Given the description of an element on the screen output the (x, y) to click on. 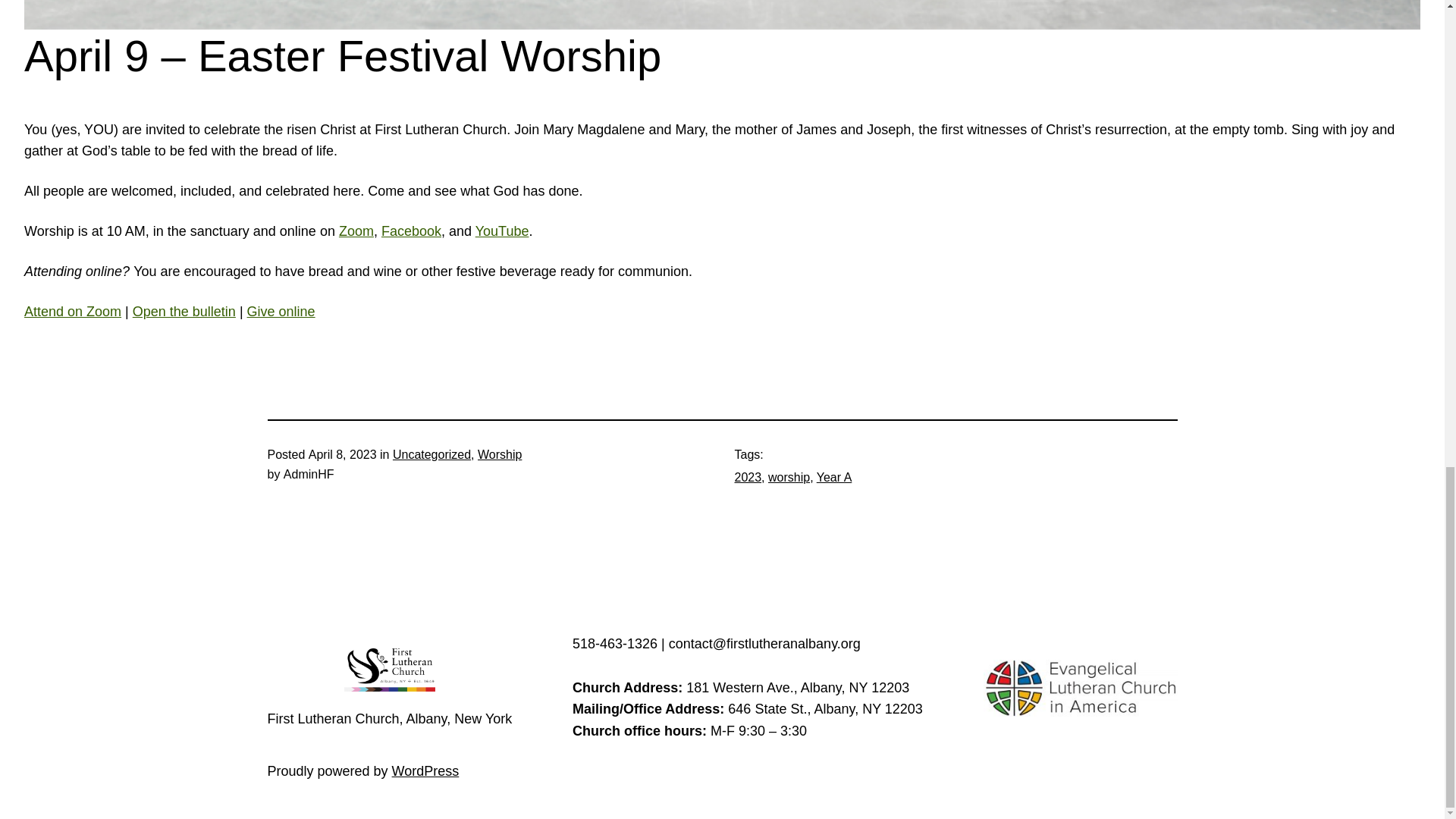
Open the bulletin (183, 311)
Facebook (411, 231)
Year A (833, 477)
Attend on Zoom (72, 311)
Uncategorized (431, 454)
worship (788, 477)
First Lutheran Church, Albany, New York (389, 718)
Give online (281, 311)
WordPress (425, 770)
2023 (747, 477)
